Given the description of an element on the screen output the (x, y) to click on. 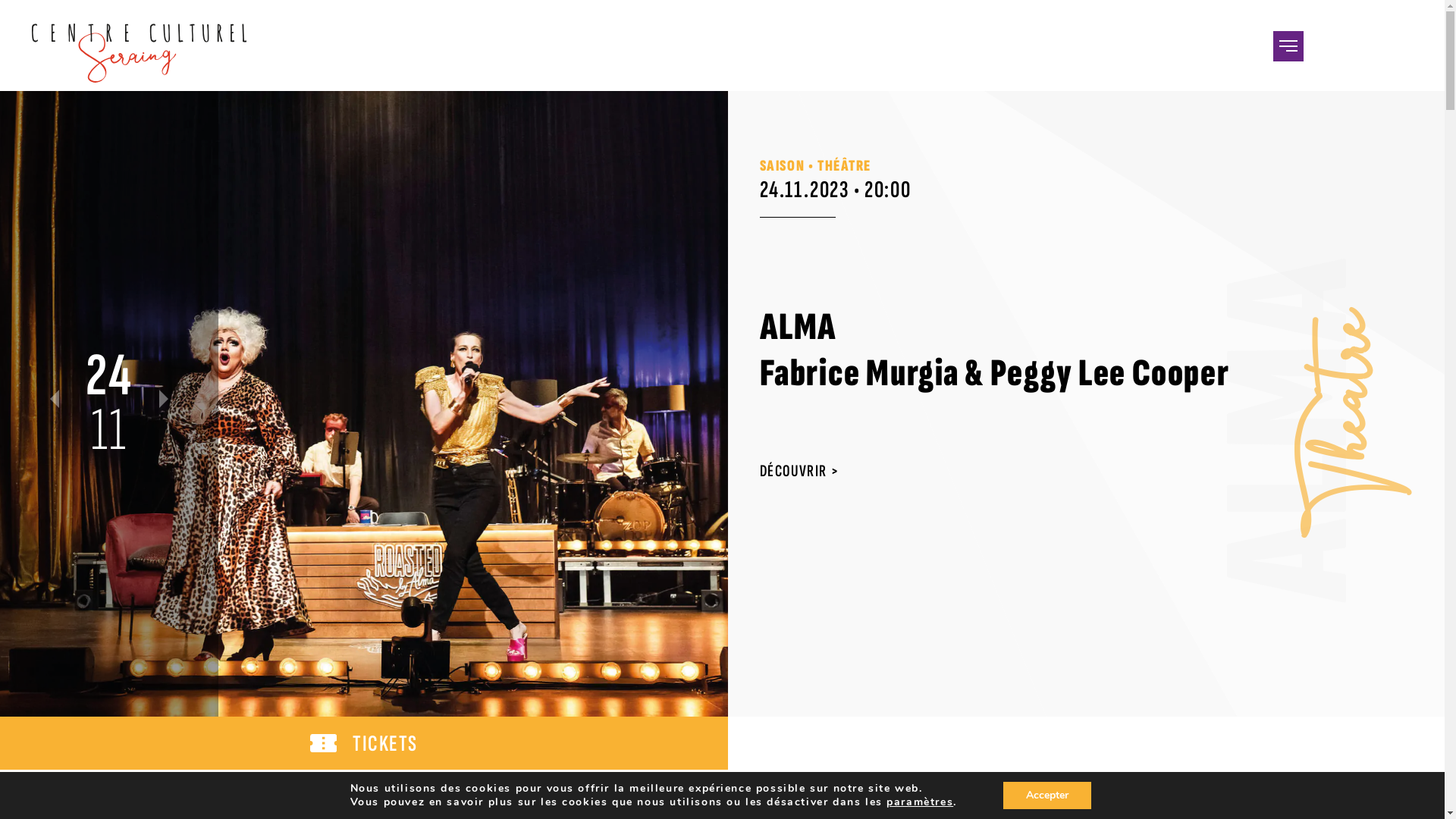
Accepter Element type: text (1047, 795)
TICKETS Element type: text (364, 742)
Centre culturel de Seraing Element type: text (138, 52)
